Given the description of an element on the screen output the (x, y) to click on. 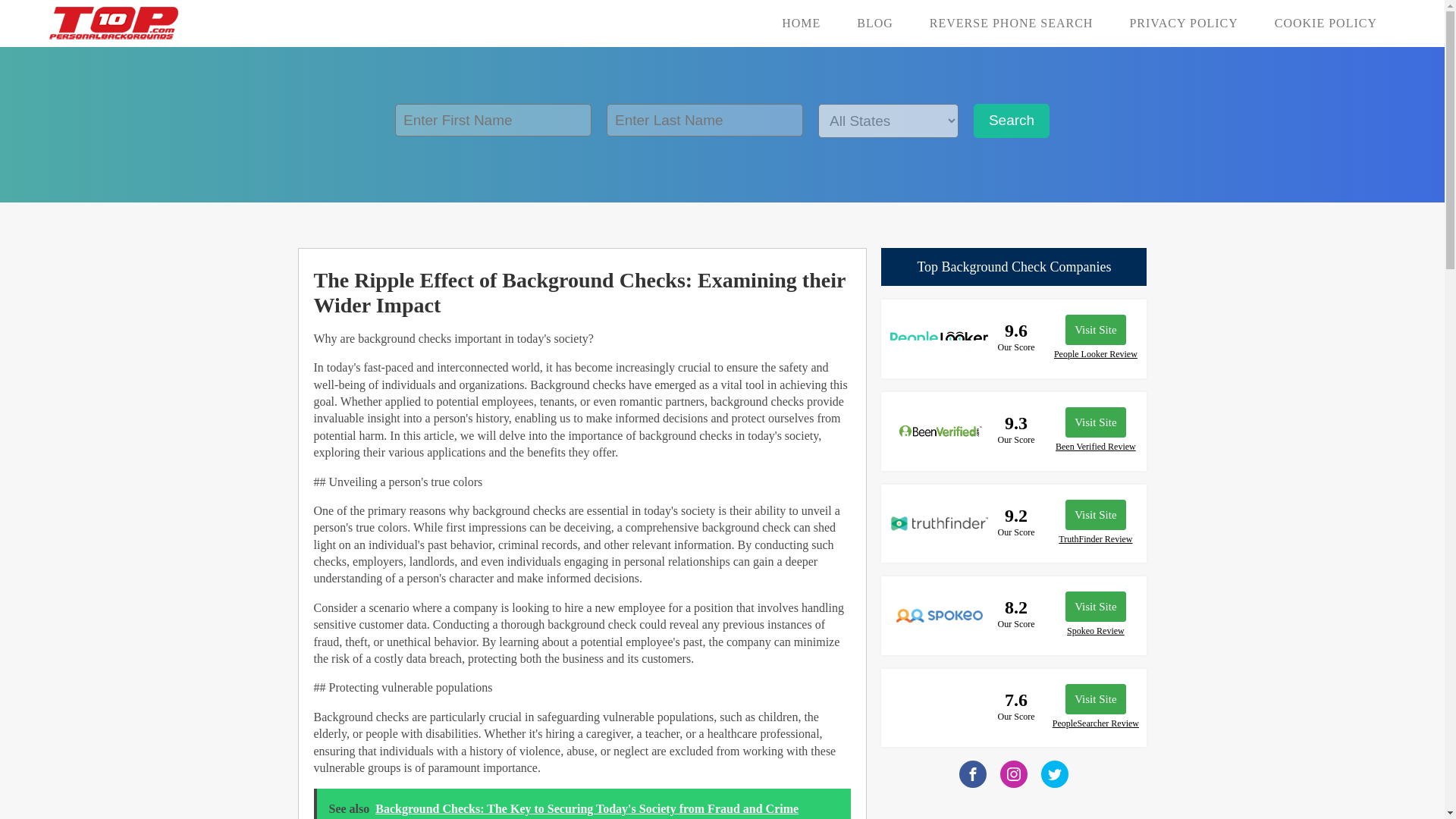
HOME (800, 23)
Search (1011, 121)
Visit Site (1095, 329)
Been Verified Review (1095, 446)
Visit Site (1095, 606)
Spokeo Review (1095, 631)
Visit Site (1095, 698)
PeopleSearcher Review (1095, 723)
People Looker Review (1095, 354)
BLOG (874, 23)
Visit Site (1095, 514)
Visit Site (1095, 422)
COOKIE POLICY (1325, 23)
Search (1011, 121)
